Given the description of an element on the screen output the (x, y) to click on. 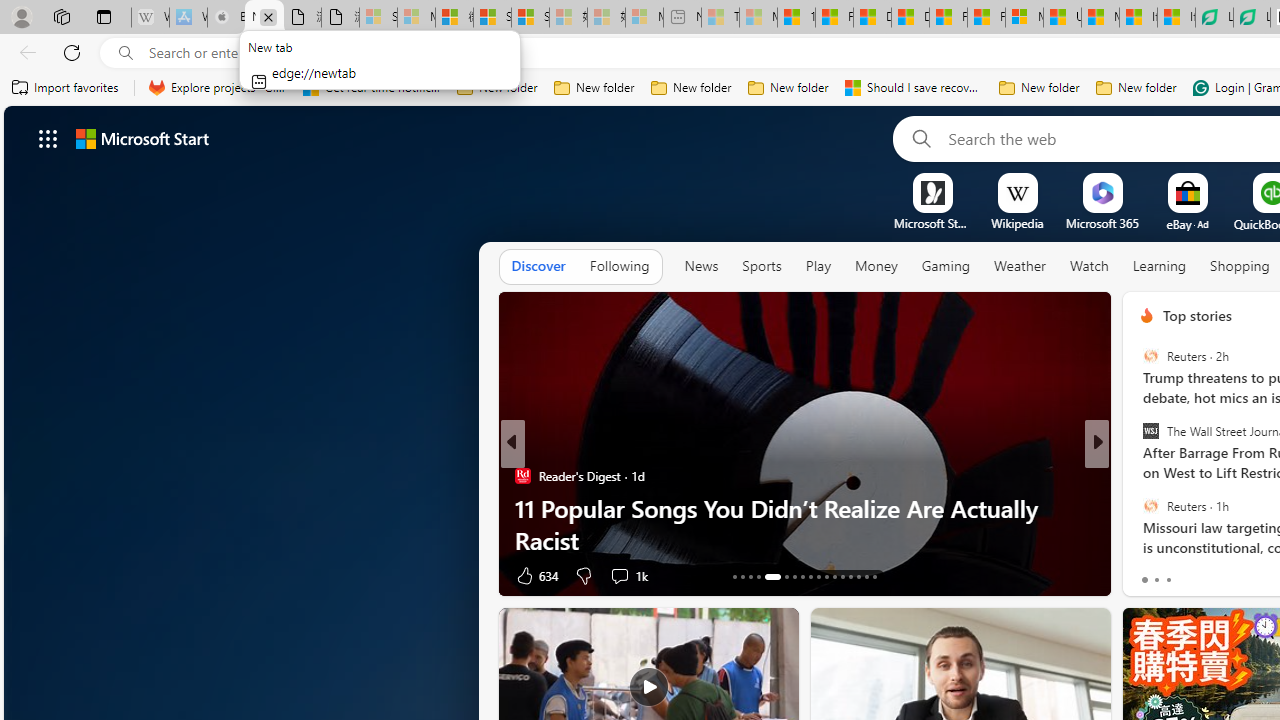
375 Like (1151, 574)
View comments 30 Comment (11, 575)
37 Like (1149, 574)
AutomationID: tab-45 (874, 576)
Nordace.com (1165, 507)
AutomationID: tab-16 (757, 576)
Kinda Frugal (1138, 507)
